Given the description of an element on the screen output the (x, y) to click on. 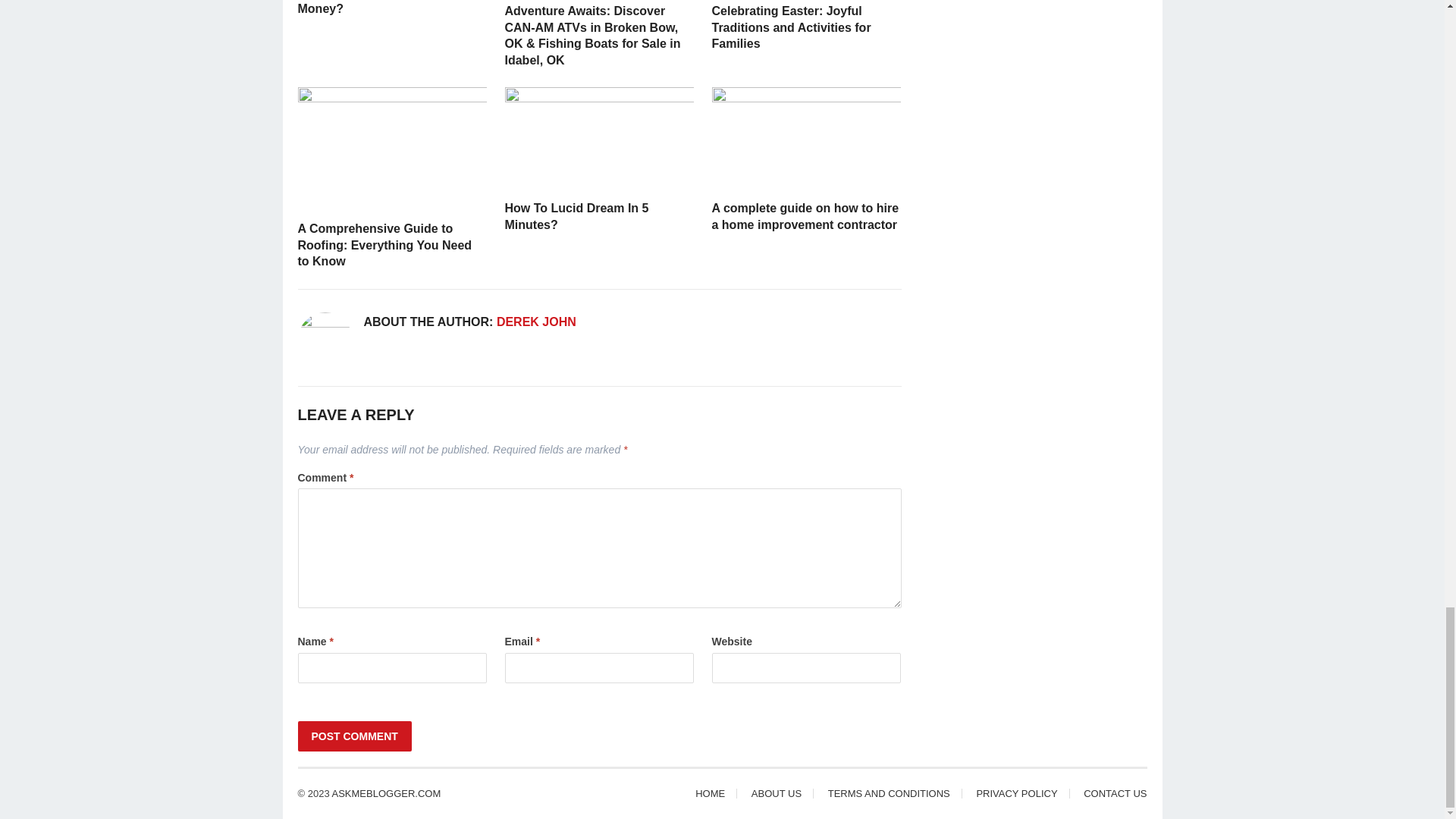
Post Comment (353, 736)
